Given the description of an element on the screen output the (x, y) to click on. 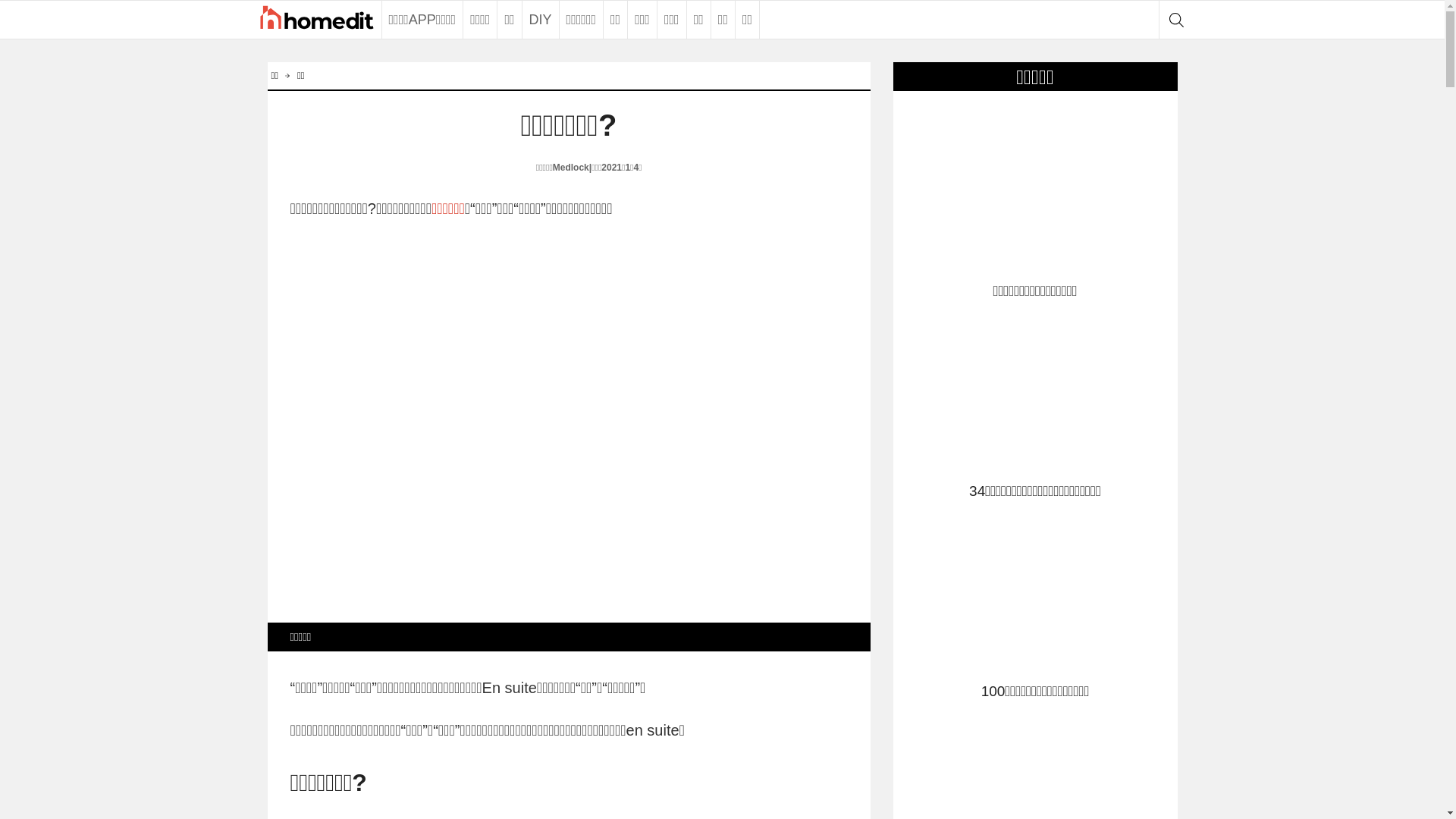
Emily Medlock Element type: hover (510, 168)
DIY Element type: text (539, 19)
